Given the description of an element on the screen output the (x, y) to click on. 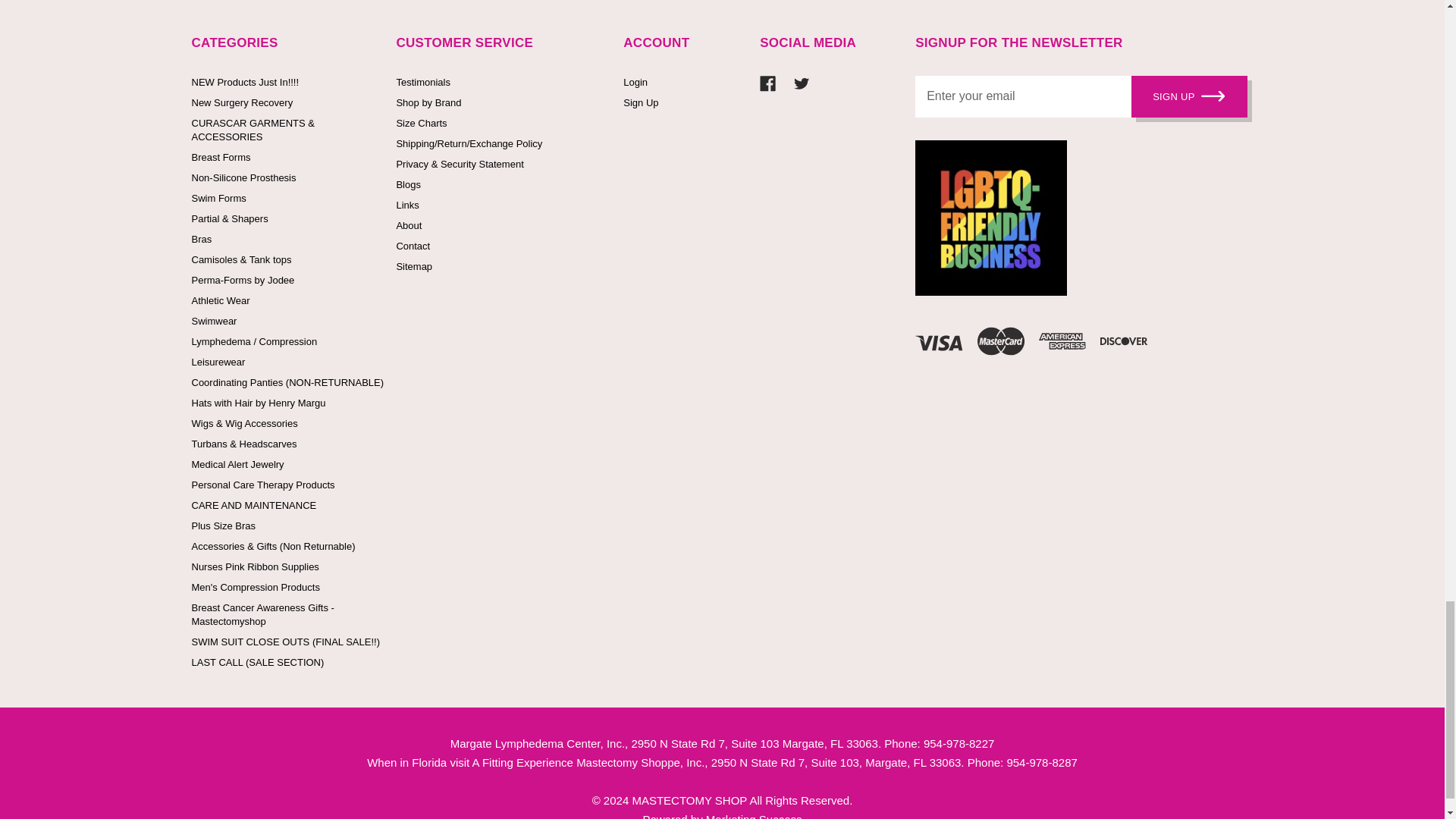
Facebook (768, 83)
Twitter (801, 83)
Sign Up (1189, 96)
